Given the description of an element on the screen output the (x, y) to click on. 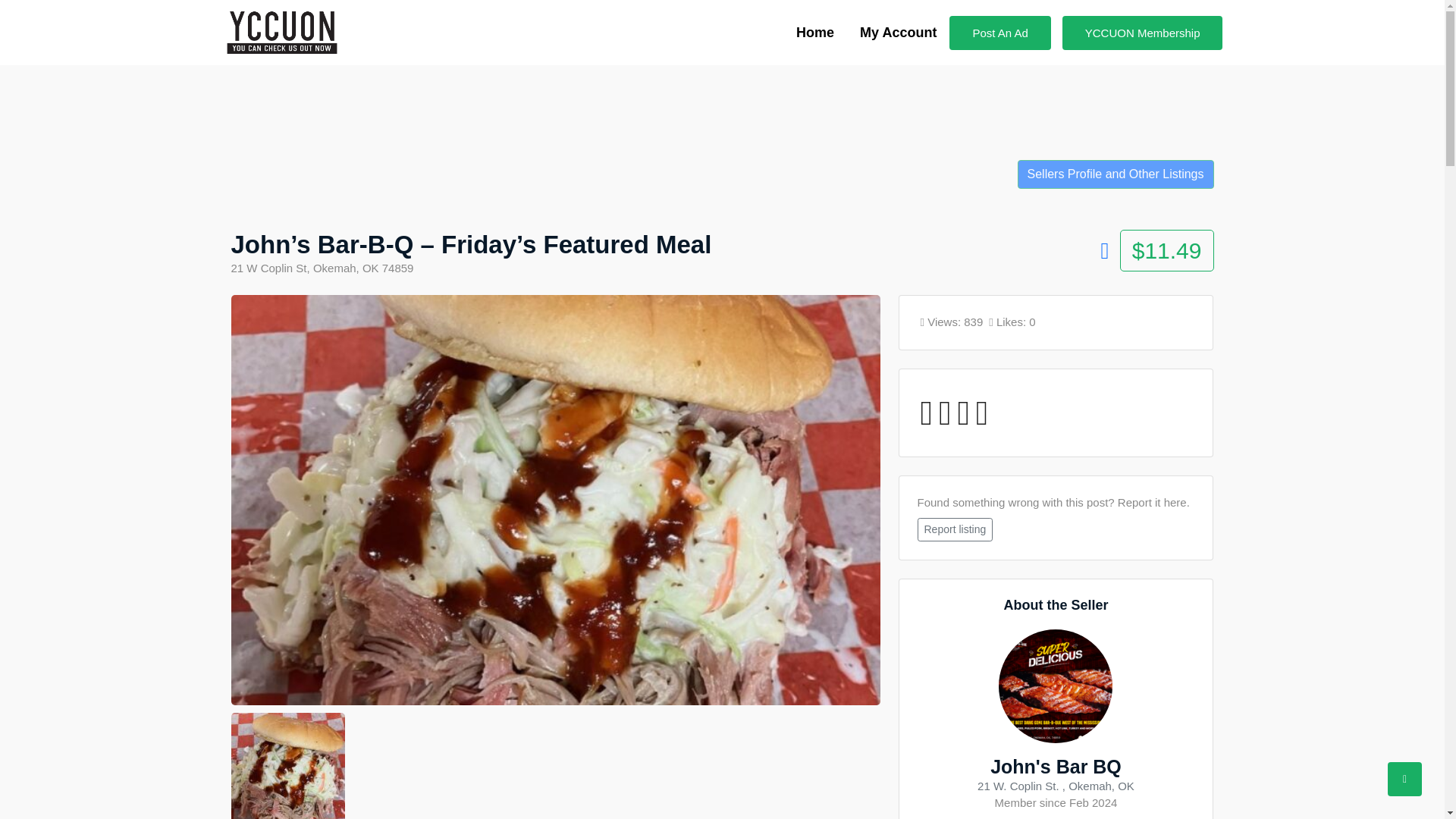
My Account (898, 32)
YCCUON Membership (1142, 32)
Sellers Profile and Other Listings (1115, 174)
Post An Ad (999, 32)
Home (815, 32)
Report listing (954, 529)
